Given the description of an element on the screen output the (x, y) to click on. 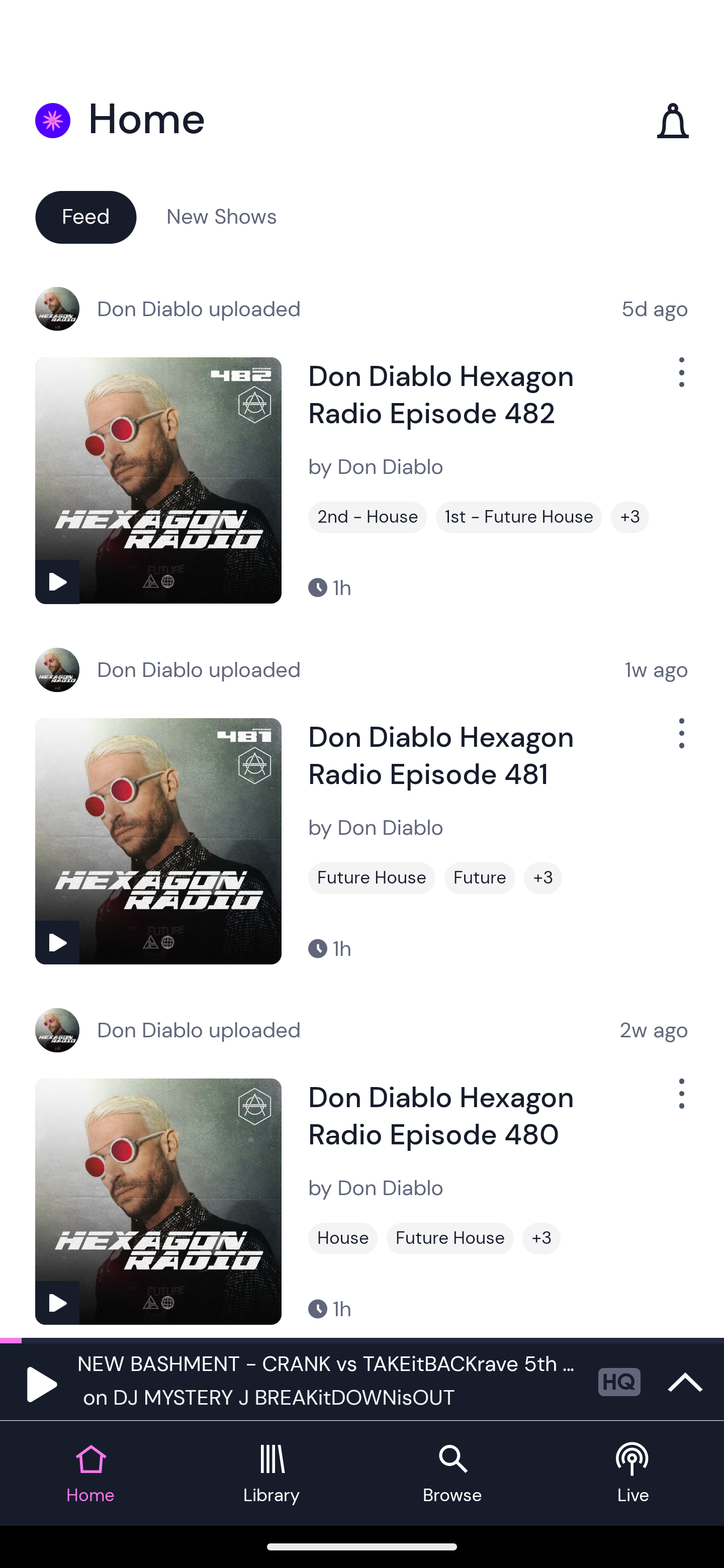
Feed (85, 216)
New Shows (221, 216)
Show Options Menu Button (679, 379)
2nd - House (367, 517)
1st - Future House (518, 517)
Show Options Menu Button (679, 740)
Future House (371, 877)
Future (479, 877)
Show Options Menu Button (679, 1101)
House (342, 1238)
Future House (450, 1238)
Home tab Home (90, 1473)
Library tab Library (271, 1473)
Browse tab Browse (452, 1473)
Live tab Live (633, 1473)
